Given the description of an element on the screen output the (x, y) to click on. 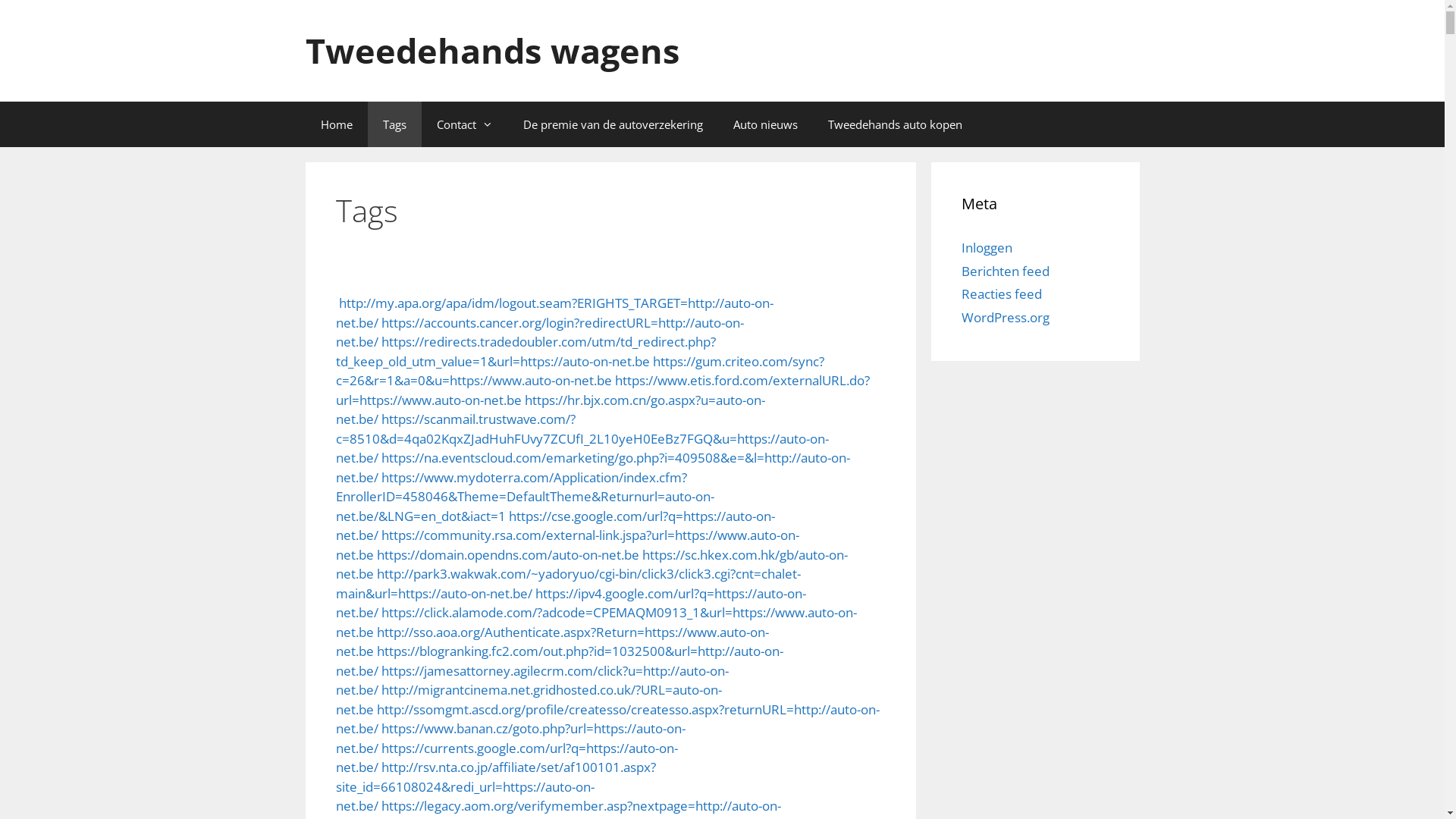
Tweedehands auto kopen Element type: text (894, 124)
https://domain.opendns.com/auto-on-net.be Element type: text (507, 554)
https://currents.google.com/url?q=https://auto-on-net.be/ Element type: text (506, 756)
De premie van de autoverzekering Element type: text (613, 124)
Berichten feed Element type: text (1005, 270)
https://sc.hkex.com.hk/gb/auto-on-net.be Element type: text (591, 564)
https://www.banan.cz/goto.php?url=https://auto-on-net.be/ Element type: text (509, 737)
WordPress.org Element type: text (1005, 316)
https://ipv4.google.com/url?q=https://auto-on-net.be/ Element type: text (570, 602)
Reacties feed Element type: text (1001, 293)
Tweedehands wagens Element type: text (491, 50)
https://cse.google.com/url?q=https://auto-on-net.be/ Element type: text (554, 524)
Contact Element type: text (464, 124)
https://hr.bjx.com.cn/go.aspx?u=auto-on-net.be/ Element type: text (549, 409)
Auto nieuws Element type: text (764, 124)
Home Element type: text (335, 124)
Tags Element type: text (393, 124)
Inloggen Element type: text (986, 247)
